Given the description of an element on the screen output the (x, y) to click on. 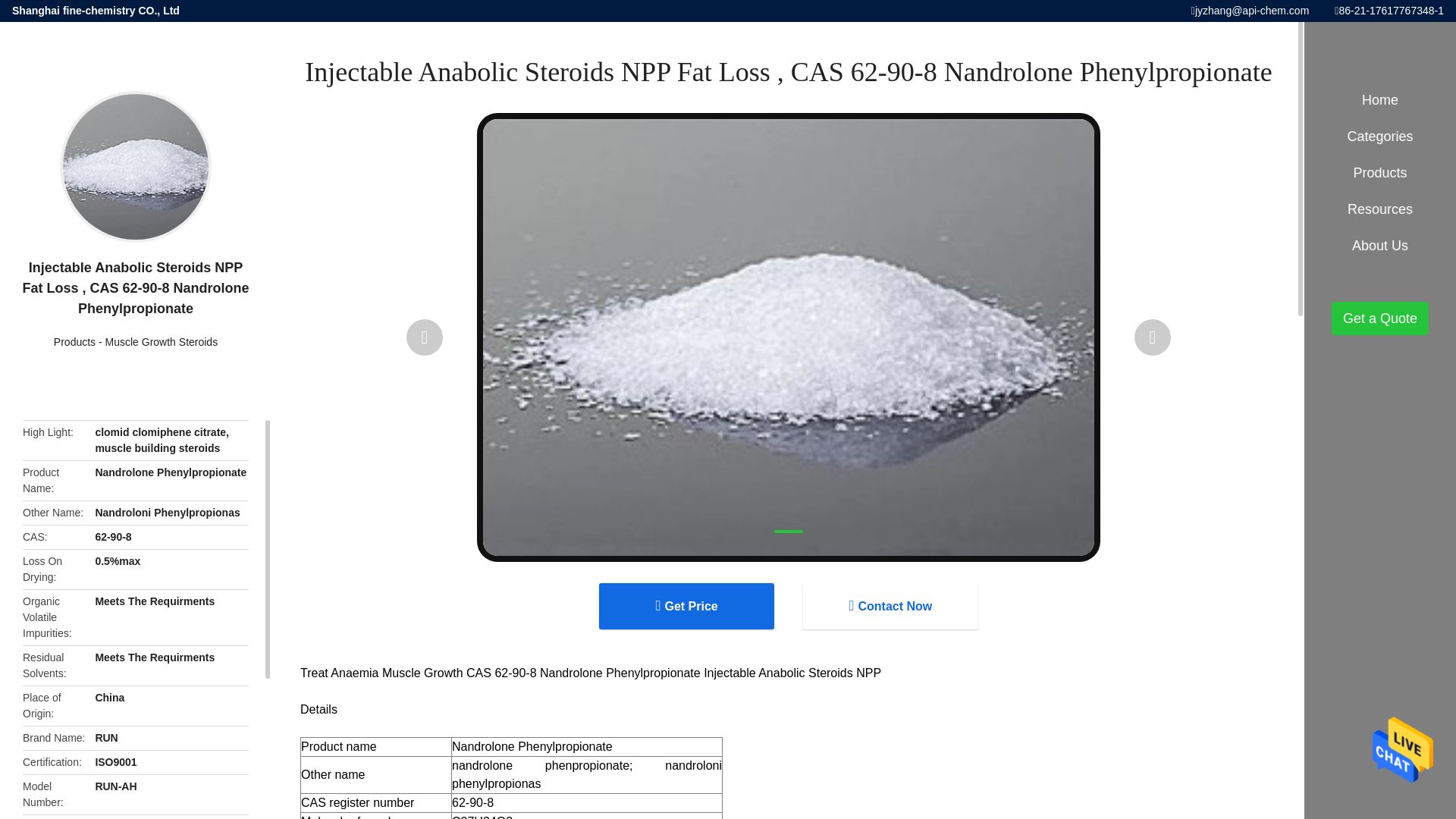
Products (74, 341)
China Muscle Growth Steroids Manufacturers (161, 341)
Home (1379, 99)
Contact Now (889, 606)
Categories (1379, 135)
Muscle Growth Steroids (161, 341)
Get Price (685, 606)
Products (74, 341)
